Given the description of an element on the screen output the (x, y) to click on. 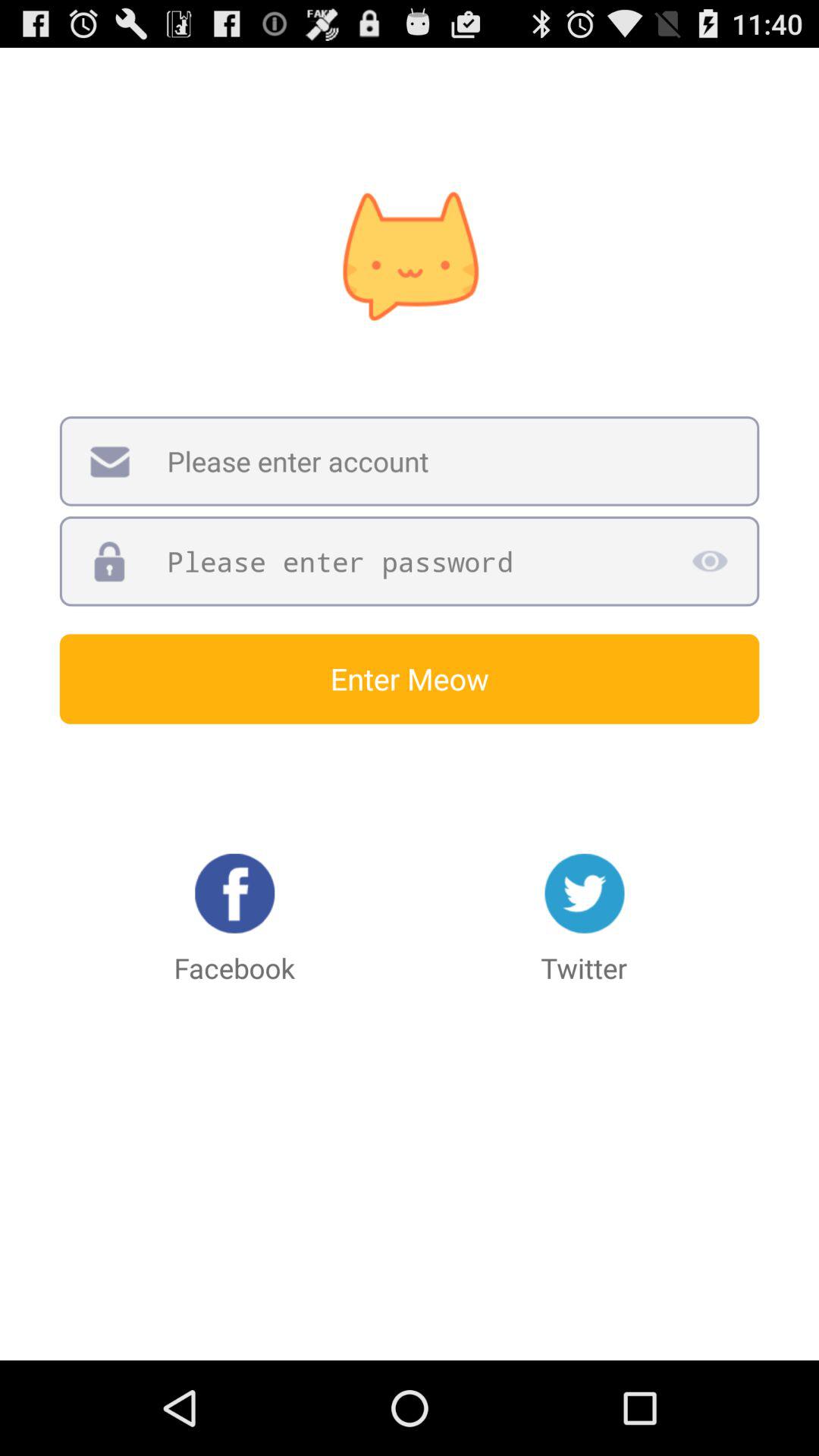
jump to enter meow icon (409, 679)
